Given the description of an element on the screen output the (x, y) to click on. 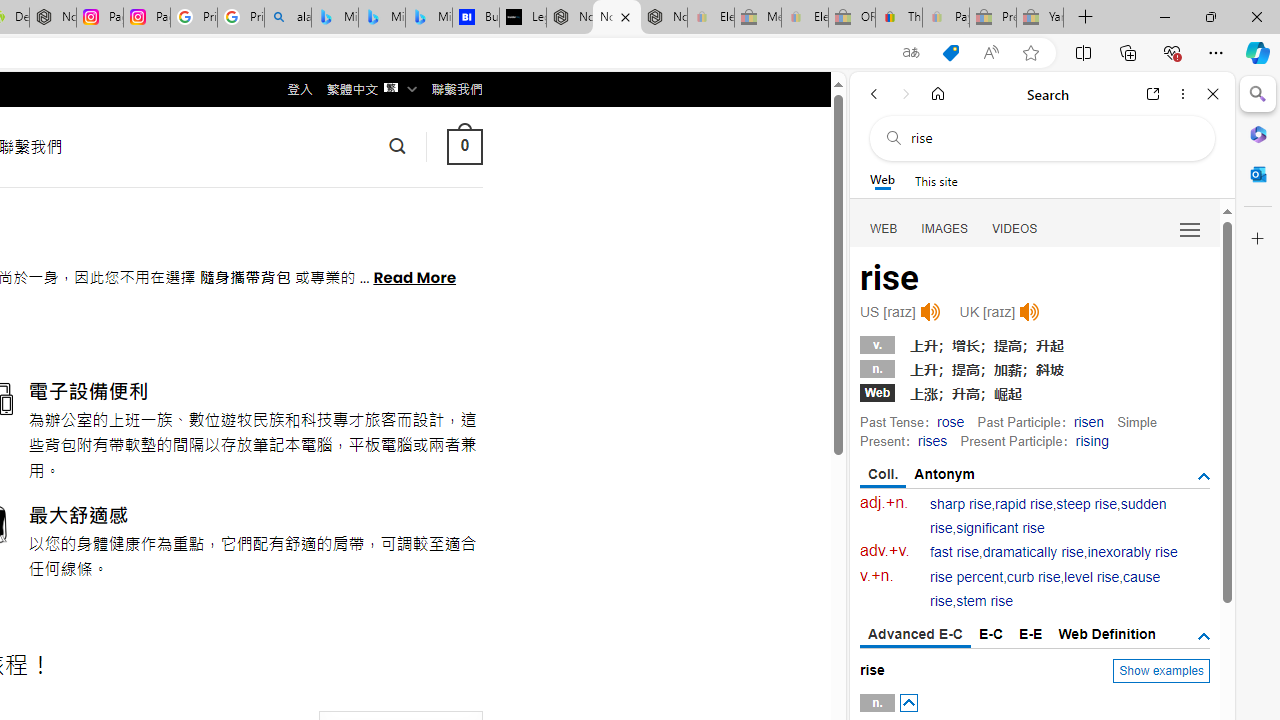
Antonym (945, 473)
Outlook (1258, 174)
  0   (464, 146)
level rise (1091, 577)
sharp rise (961, 503)
Web scope (882, 180)
This site has coupons! Shopping in Microsoft Edge (950, 53)
inexorably rise (1131, 552)
Yard, Garden & Outdoor Living - Sleeping (1040, 17)
Search Filter, WEB (884, 228)
